Given the description of an element on the screen output the (x, y) to click on. 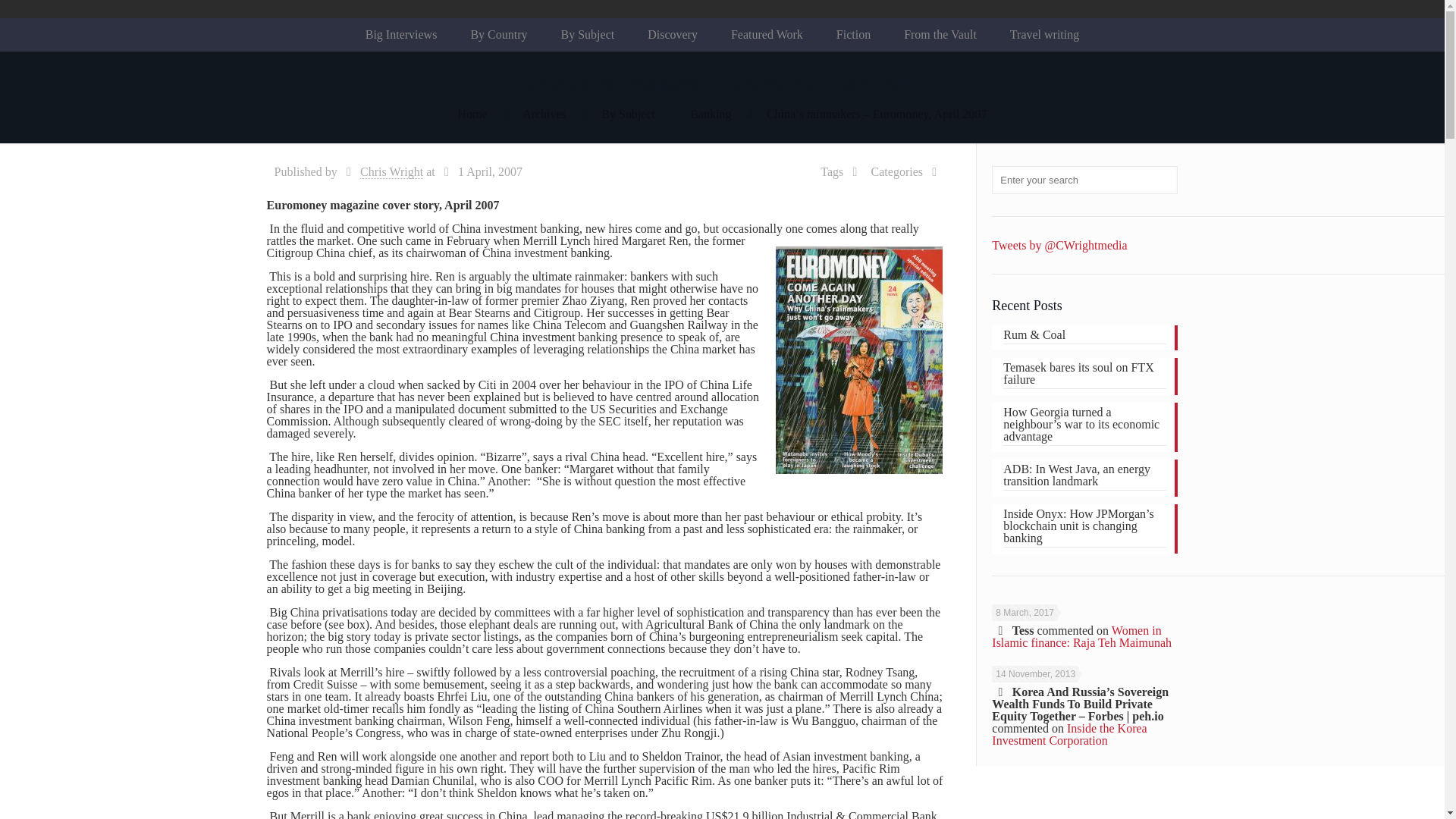
By Country (497, 34)
Big Interviews (401, 34)
